Given the description of an element on the screen output the (x, y) to click on. 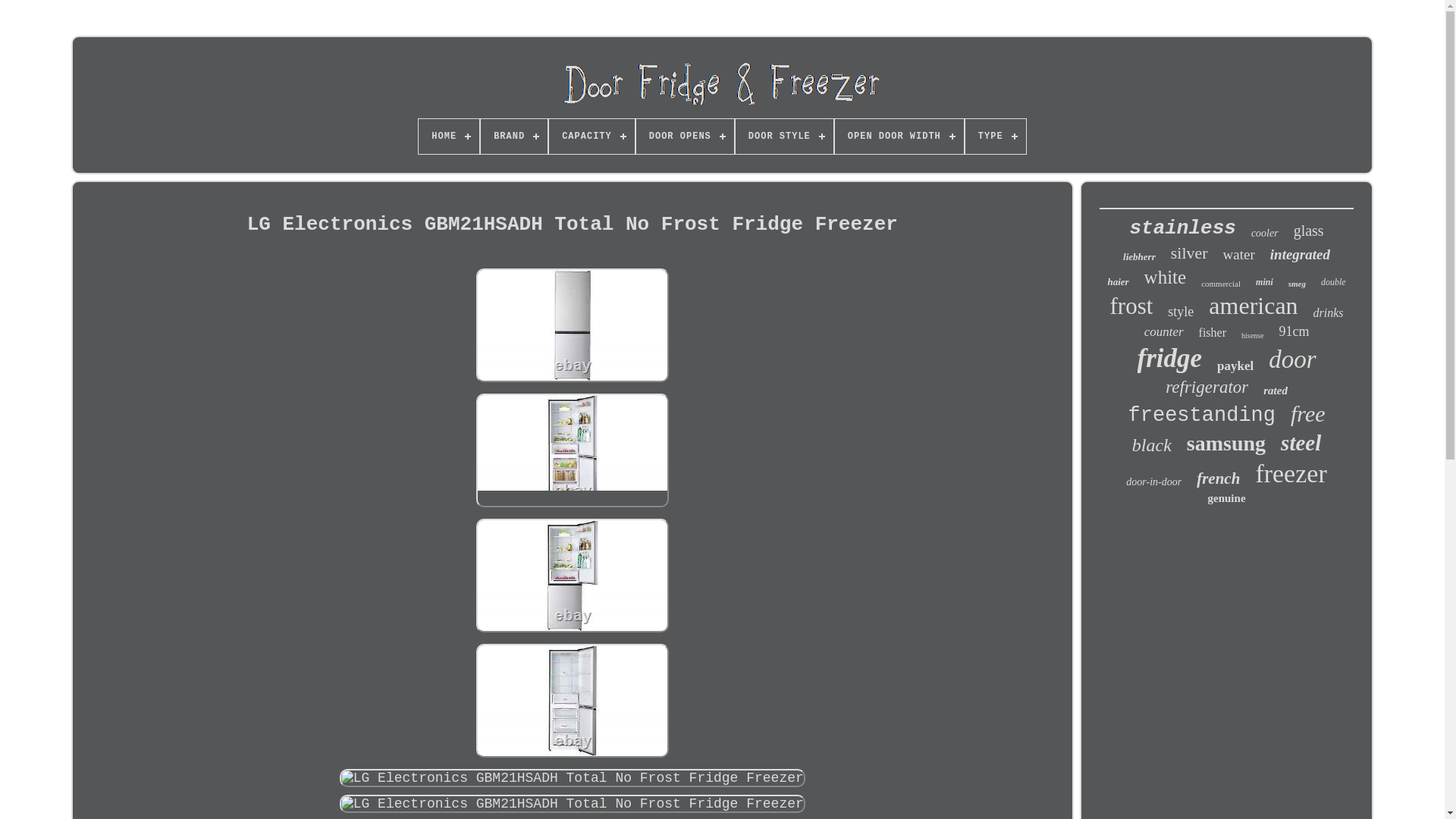
LG Electronics GBM21HSADH Total No Frost Fridge Freezer (572, 449)
BRAND (513, 135)
CAPACITY (591, 135)
HOME (449, 135)
LG Electronics GBM21HSADH Total No Frost Fridge Freezer (572, 575)
LG Electronics GBM21HSADH Total No Frost Fridge Freezer (572, 325)
LG Electronics GBM21HSADH Total No Frost Fridge Freezer (572, 778)
LG Electronics GBM21HSADH Total No Frost Fridge Freezer (572, 803)
LG Electronics GBM21HSADH Total No Frost Fridge Freezer (572, 700)
